Given the description of an element on the screen output the (x, y) to click on. 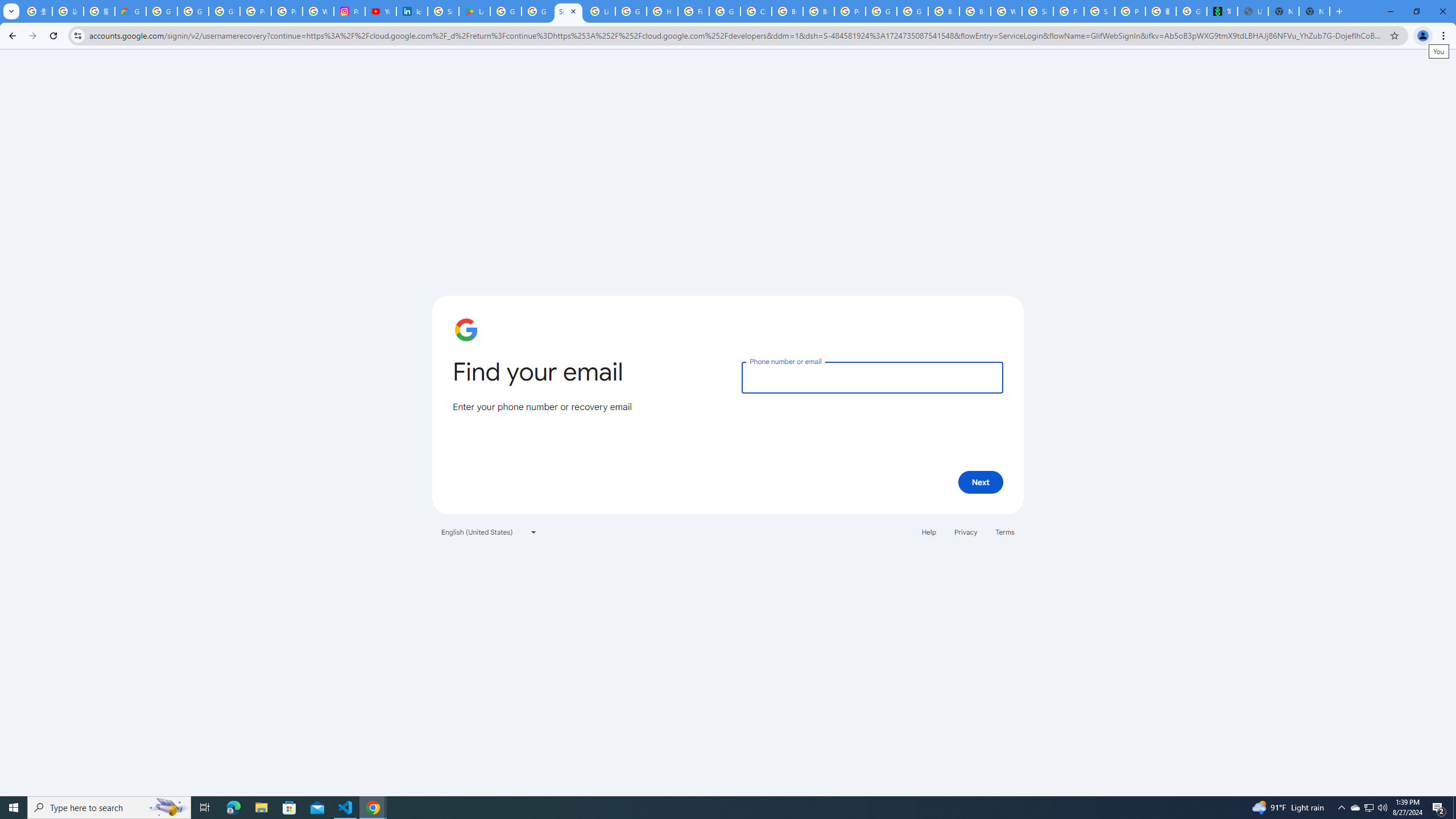
Untitled (1252, 11)
Sign in - Google Accounts (443, 11)
Browse Chrome as a guest - Computer - Google Chrome Help (787, 11)
Chrome (1445, 35)
Browse Chrome as a guest - Computer - Google Chrome Help (974, 11)
View site information (77, 35)
New Tab (1338, 11)
Help (928, 531)
Browse Chrome as a guest - Computer - Google Chrome Help (943, 11)
Phone number or email (871, 376)
